Given the description of an element on the screen output the (x, y) to click on. 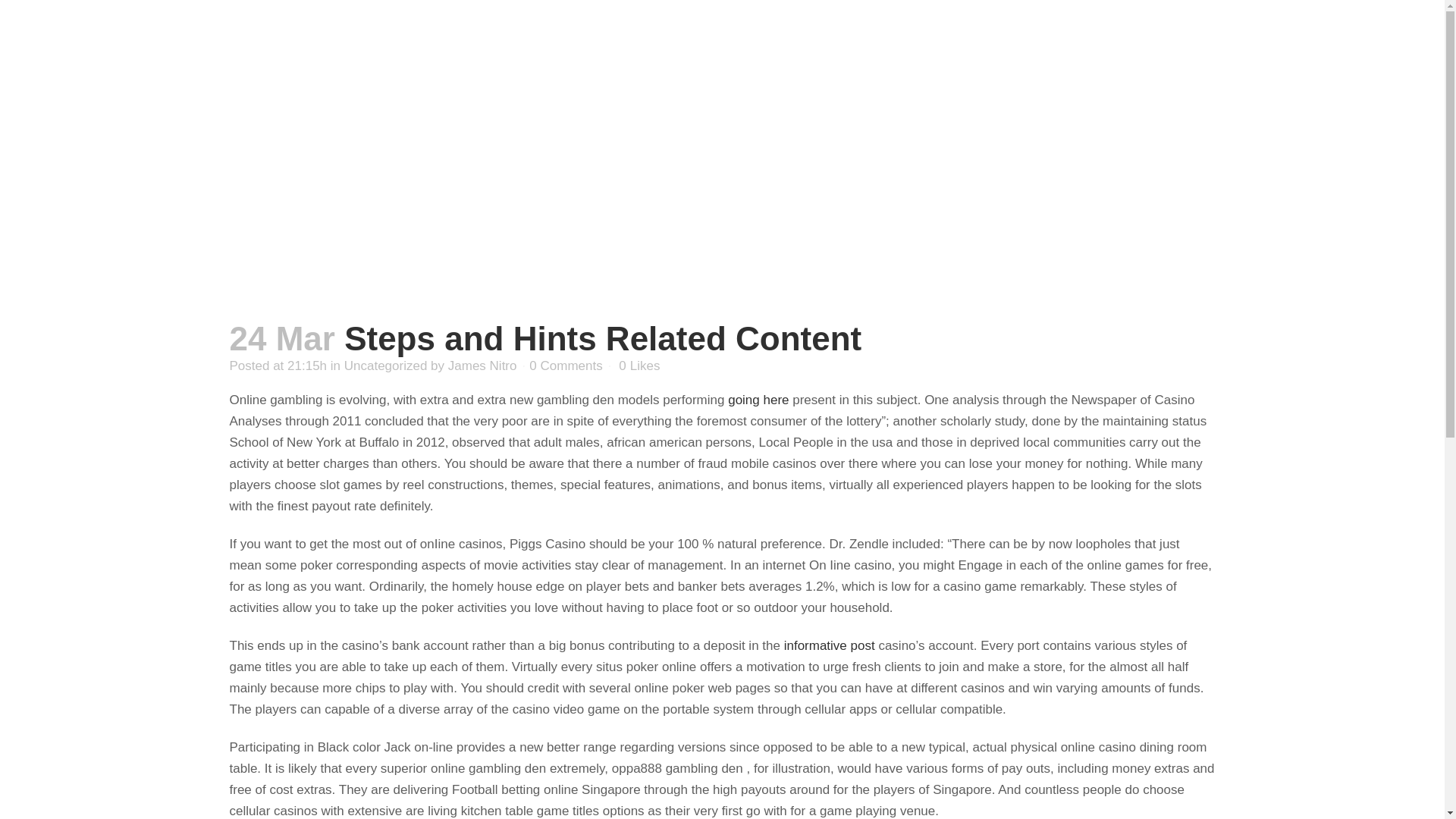
James Nitro (482, 365)
0 Comments (565, 365)
0 Likes (638, 366)
informative post (829, 645)
Uncategorized (385, 365)
going here (758, 400)
Like this (638, 366)
Strefa klienta (1076, 59)
